Given the description of an element on the screen output the (x, y) to click on. 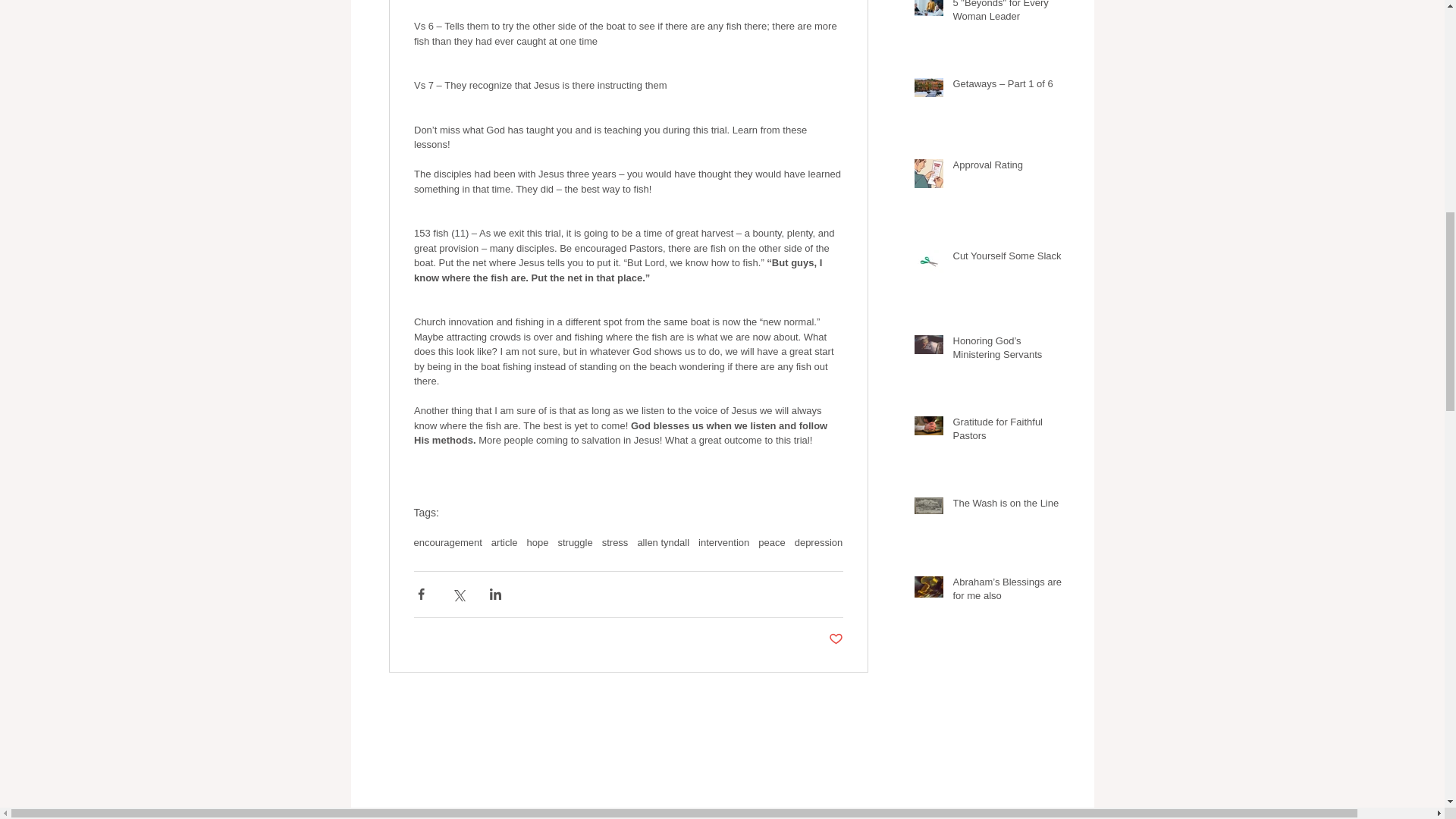
Post not marked as liked (835, 639)
encouragement (447, 542)
article (505, 542)
allen tyndall (662, 542)
depression (818, 542)
struggle (574, 542)
hope (537, 542)
peace (771, 542)
stress (615, 542)
intervention (723, 542)
